Given the description of an element on the screen output the (x, y) to click on. 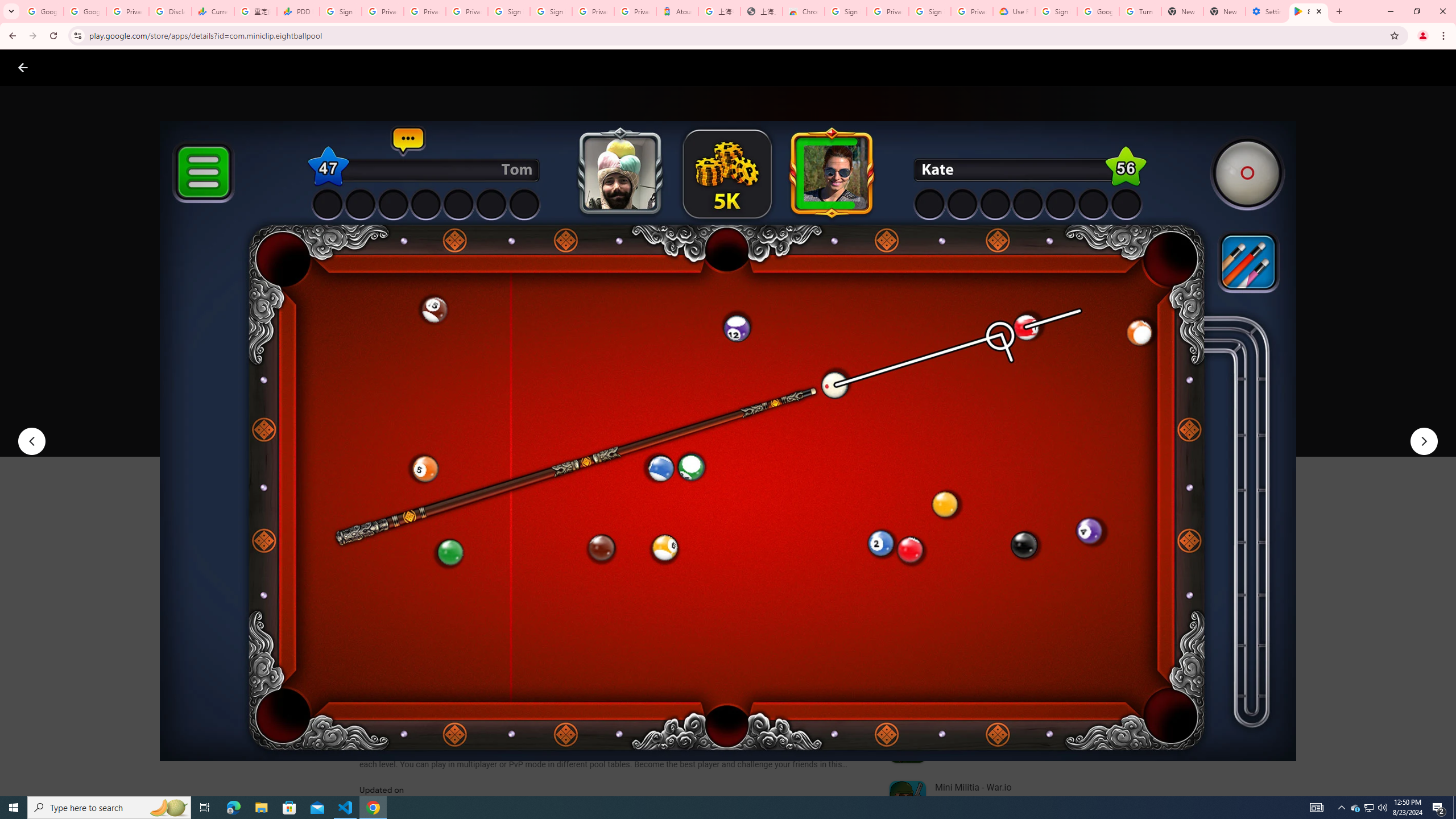
Share (506, 422)
Sign in - Google Accounts (845, 11)
More info about this content rating (575, 385)
Kids (219, 67)
Sign in - Google Accounts (930, 11)
Chrome Web Store - Color themes by Chrome (803, 11)
Turn cookies on or off - Computer - Google Account Help (1139, 11)
See more information on More by Miniclip.com (1029, 539)
